Given the description of an element on the screen output the (x, y) to click on. 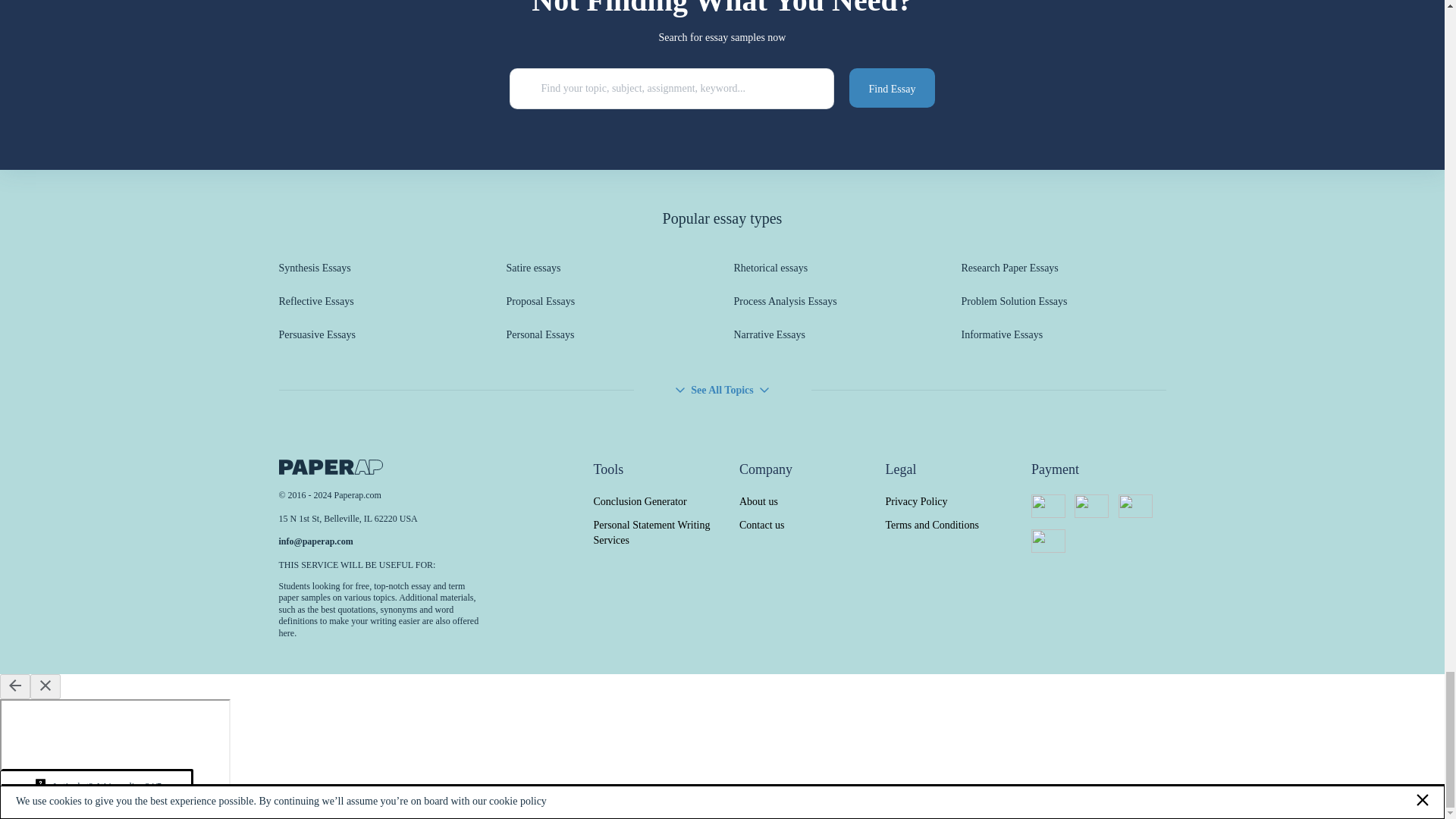
Find Essay (892, 87)
